Given the description of an element on the screen output the (x, y) to click on. 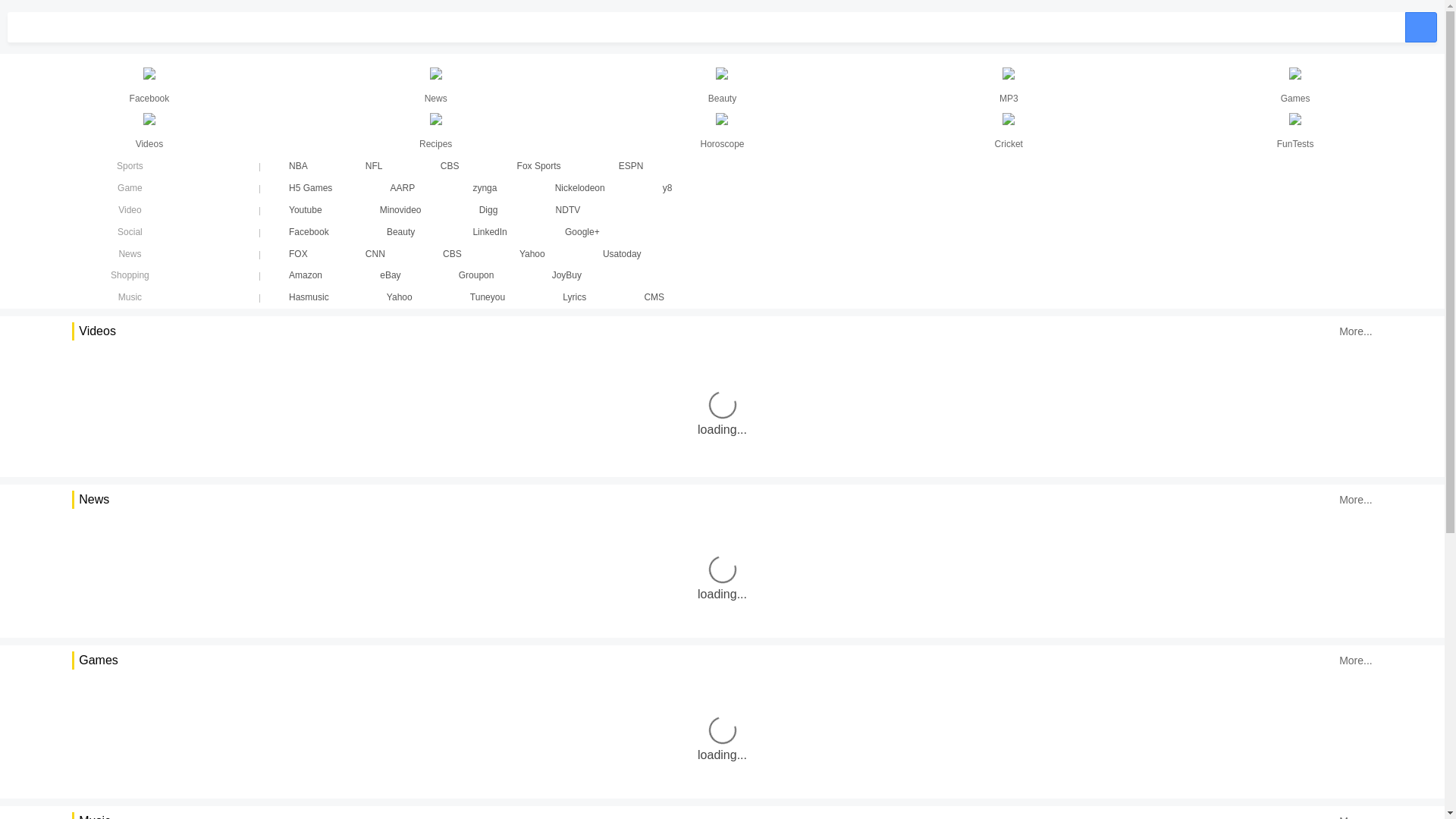
y8 Element type: text (667, 187)
Google+ Element type: text (581, 231)
NFL Element type: text (373, 165)
Groupon Element type: text (476, 274)
Cricket Element type: text (1008, 131)
Game Element type: text (129, 187)
ESPN Element type: text (630, 165)
Shopping Element type: text (129, 274)
News Element type: text (129, 253)
Digg Element type: text (488, 209)
More... Element type: text (1355, 499)
Fox Sports Element type: text (539, 165)
NDTV Element type: text (567, 209)
CNN Element type: text (375, 253)
CMS Element type: text (653, 296)
Games Element type: text (1294, 86)
Usatoday Element type: text (621, 253)
Music Element type: text (129, 296)
Horoscope Element type: text (722, 131)
Yahoo Element type: text (399, 296)
Recipes Element type: text (435, 131)
NBA Element type: text (297, 165)
eBay Element type: text (389, 274)
Minovideo Element type: text (400, 209)
Search Element type: text (1420, 26)
Amazon Element type: text (305, 274)
Beauty Element type: text (400, 231)
Nickelodeon Element type: text (580, 187)
zynga Element type: text (484, 187)
Lyrics Element type: text (574, 296)
H5 Games Element type: text (310, 187)
Tuneyou Element type: text (487, 296)
JoyBuy Element type: text (566, 274)
Yahoo Element type: text (532, 253)
Beauty Element type: text (722, 86)
LinkedIn Element type: text (489, 231)
Youtube Element type: text (305, 209)
MP3 Element type: text (1008, 86)
AARP Element type: text (402, 187)
Hasmusic Element type: text (308, 296)
Facebook Element type: text (308, 231)
More... Element type: text (1355, 331)
Sports Element type: text (129, 165)
FunTests Element type: text (1294, 131)
CBS Element type: text (449, 165)
Social Element type: text (129, 231)
FOX Element type: text (297, 253)
More... Element type: text (1355, 660)
News Element type: text (435, 86)
CBS Element type: text (451, 253)
Videos Element type: text (149, 131)
Facebook Element type: text (149, 86)
Video Element type: text (129, 209)
